Given the description of an element on the screen output the (x, y) to click on. 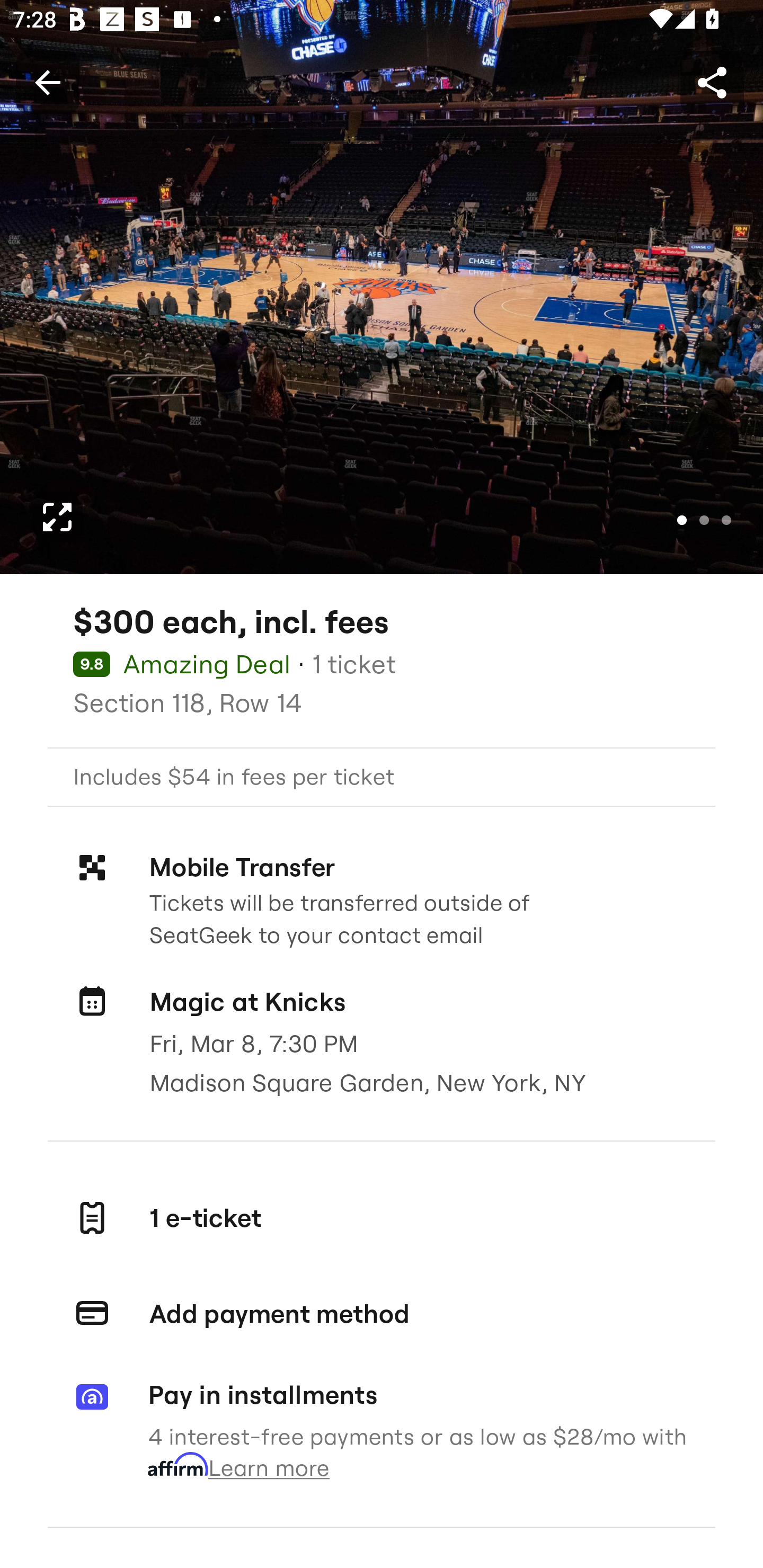
Back (47, 81)
Share (711, 81)
Expand image to fullscreen (57, 517)
1 e-ticket (381, 1217)
Add payment method (381, 1313)
